Given the description of an element on the screen output the (x, y) to click on. 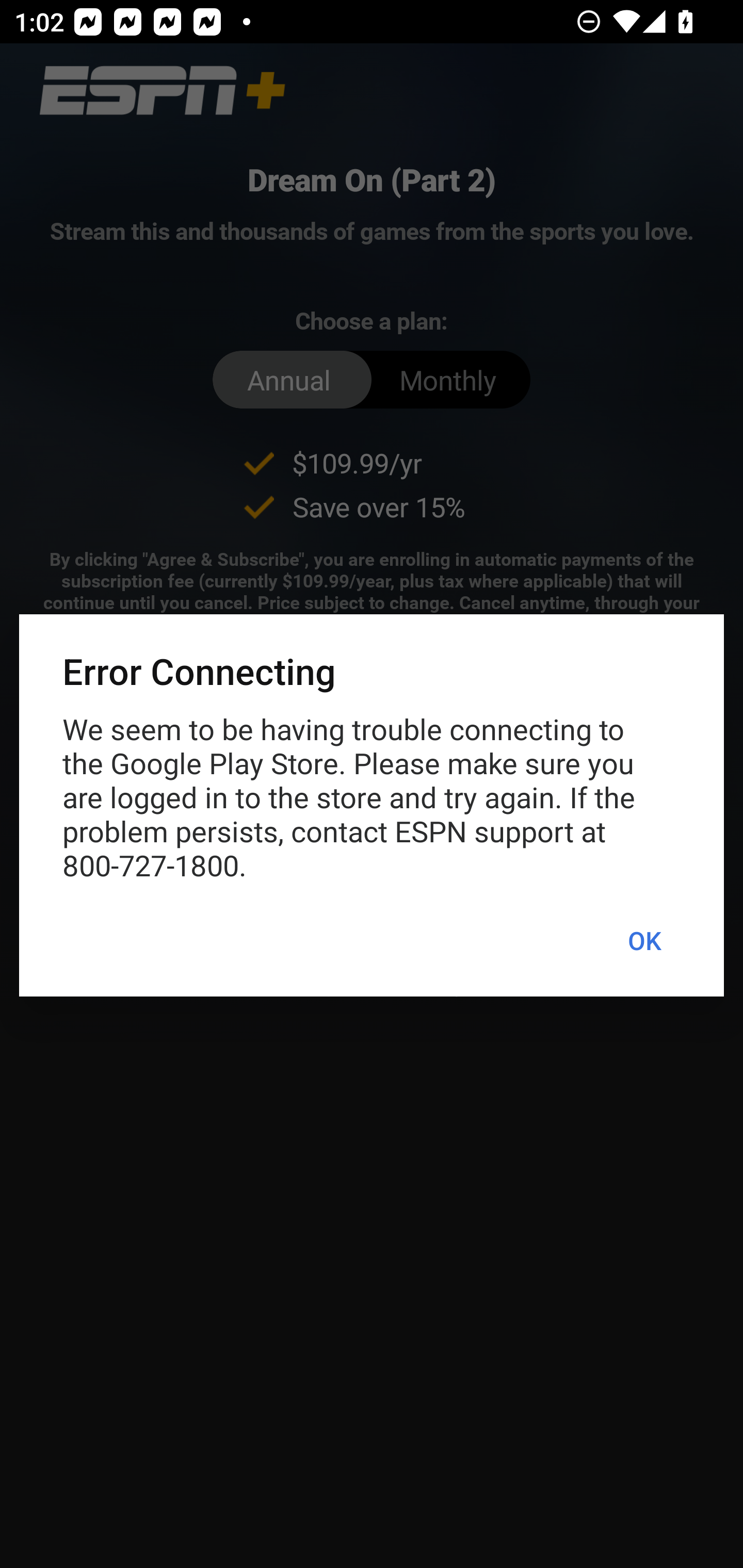
OK (644, 940)
